Given the description of an element on the screen output the (x, y) to click on. 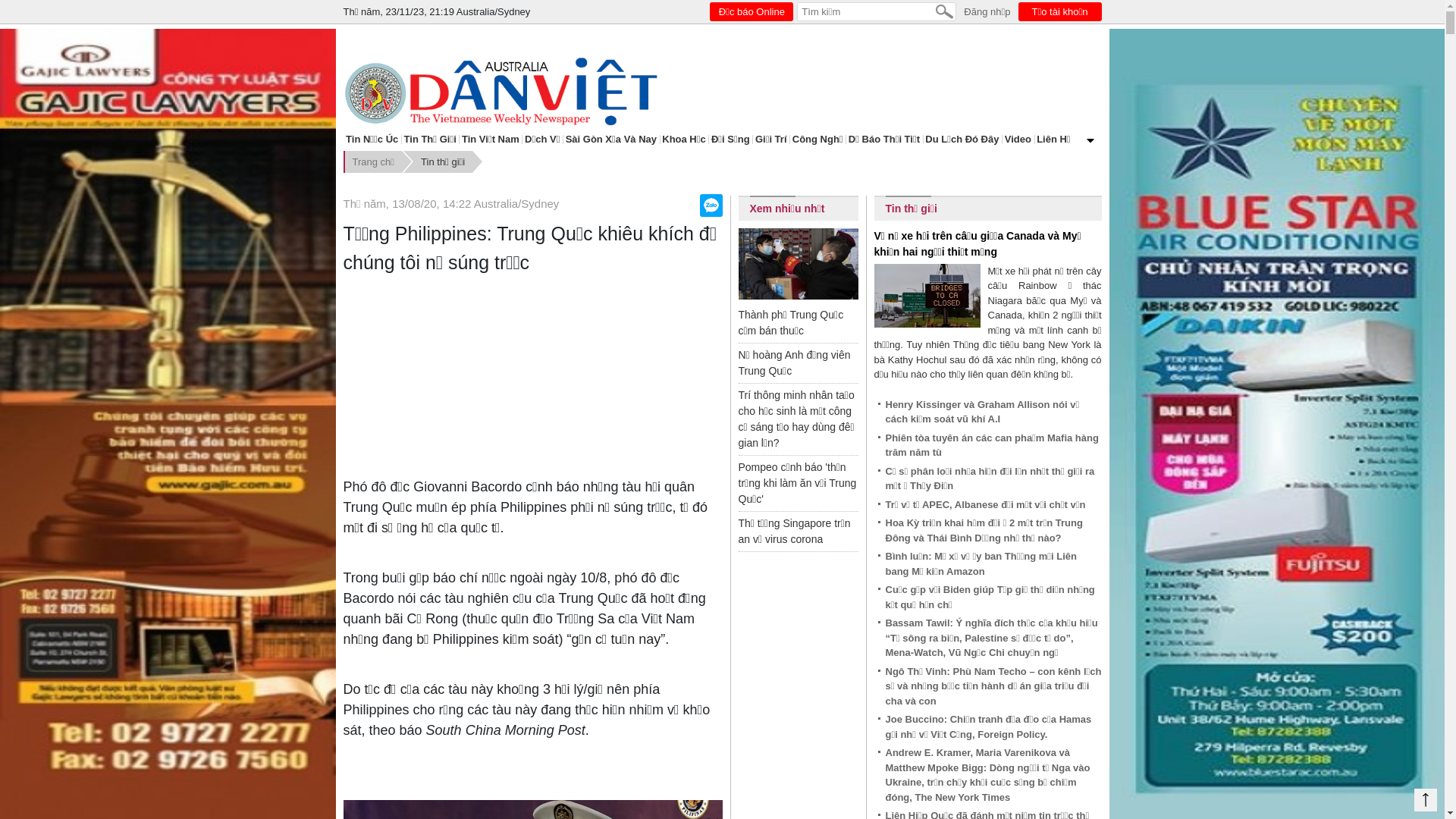
Video Element type: text (1017, 139)
